Given the description of an element on the screen output the (x, y) to click on. 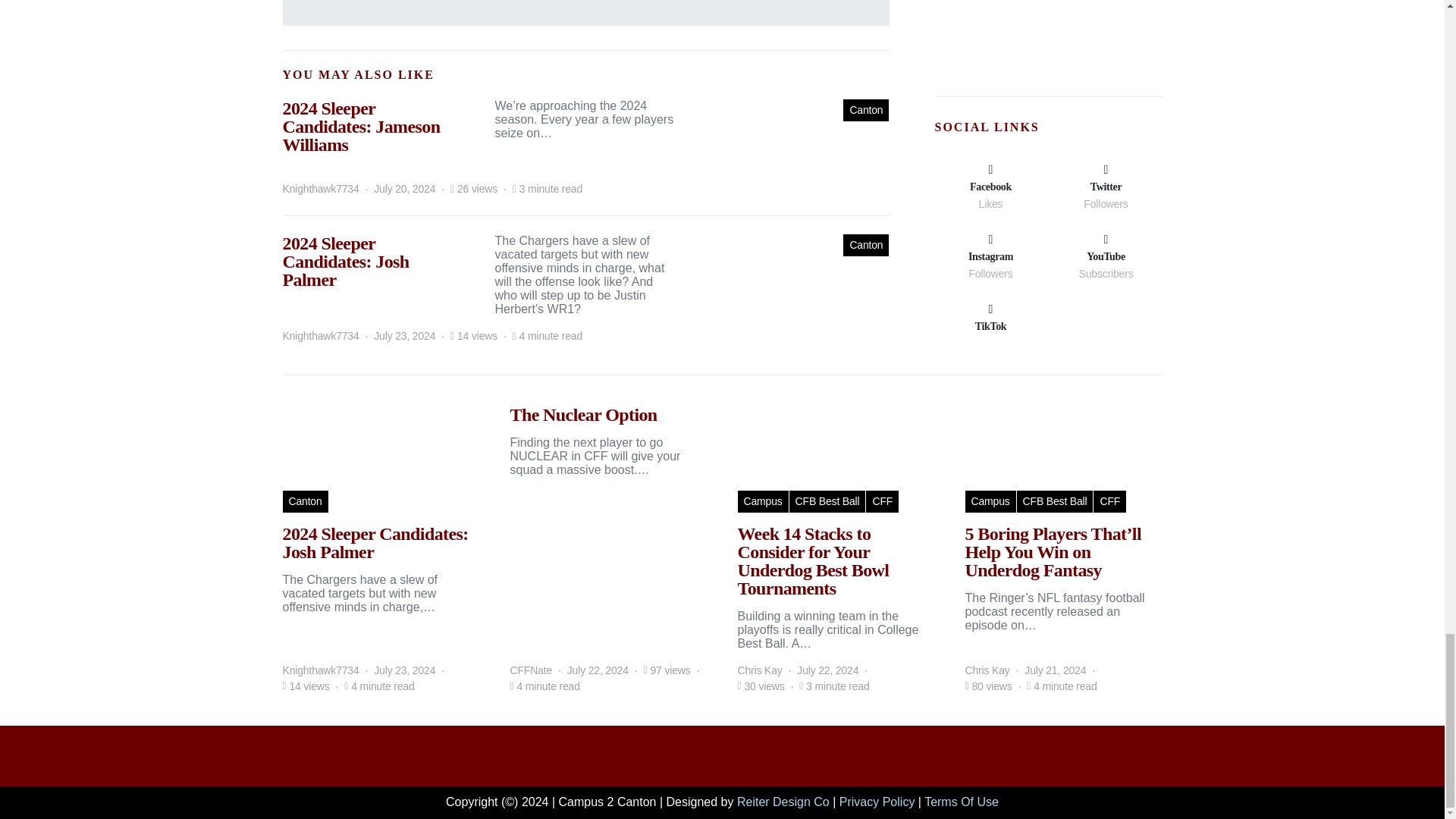
View all posts by Chris Kay (758, 670)
View all posts by Knighthawk7734 (320, 670)
View all posts by CFFNate (530, 670)
View all posts by Chris Kay (986, 670)
View all posts by Knighthawk7734 (320, 335)
View all posts by Knighthawk7734 (320, 188)
